Given the description of an element on the screen output the (x, y) to click on. 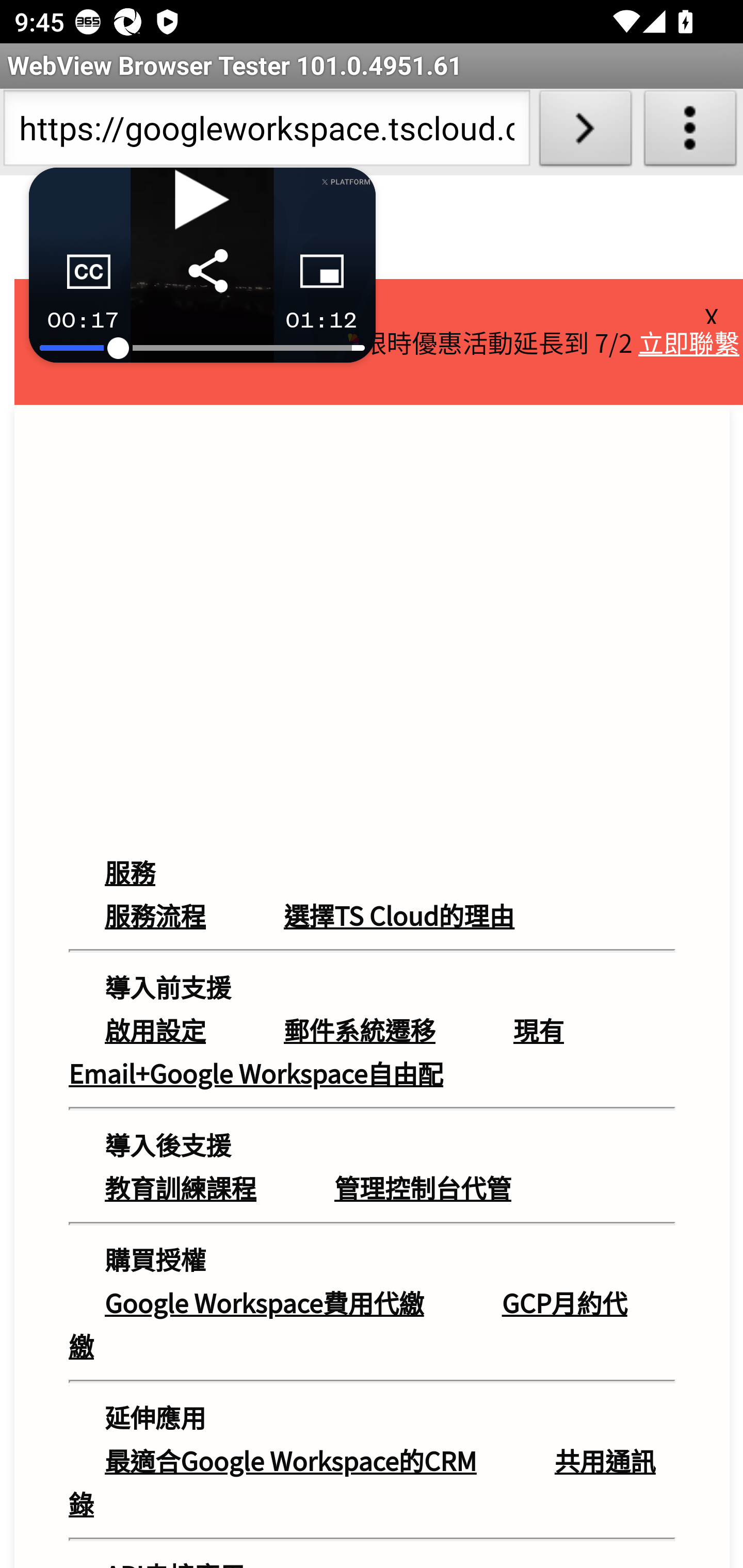
Load URL (585, 132)
About WebView (690, 132)
立即聯繫 (688, 341)
服務 (150, 871)
服務流程 (155, 914)
選擇TS Cloud的理由 (399, 914)
啟用設定 (155, 1029)
現有Email+Google Workspace自由配 (316, 1051)
郵件系統遷移 (360, 1029)
教育訓練課程 (181, 1187)
管理控制台代管 (423, 1187)
Google Workspace費用代繳 (263, 1302)
GCP月約代繳 (348, 1324)
最適合Google Workspace的CRM (290, 1460)
共用通訊錄 (362, 1481)
